Given the description of an element on the screen output the (x, y) to click on. 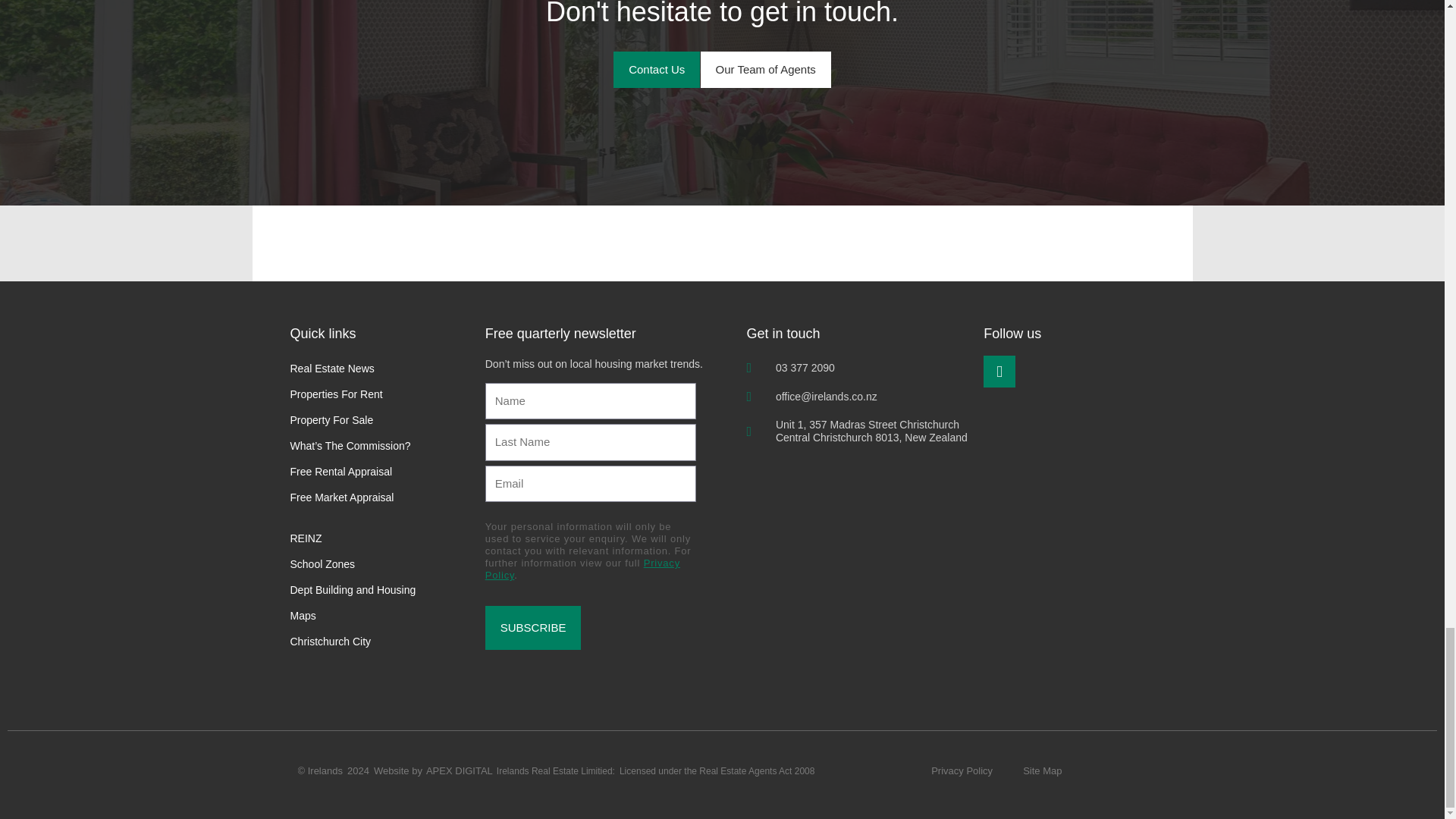
Subscribe (532, 628)
